Given the description of an element on the screen output the (x, y) to click on. 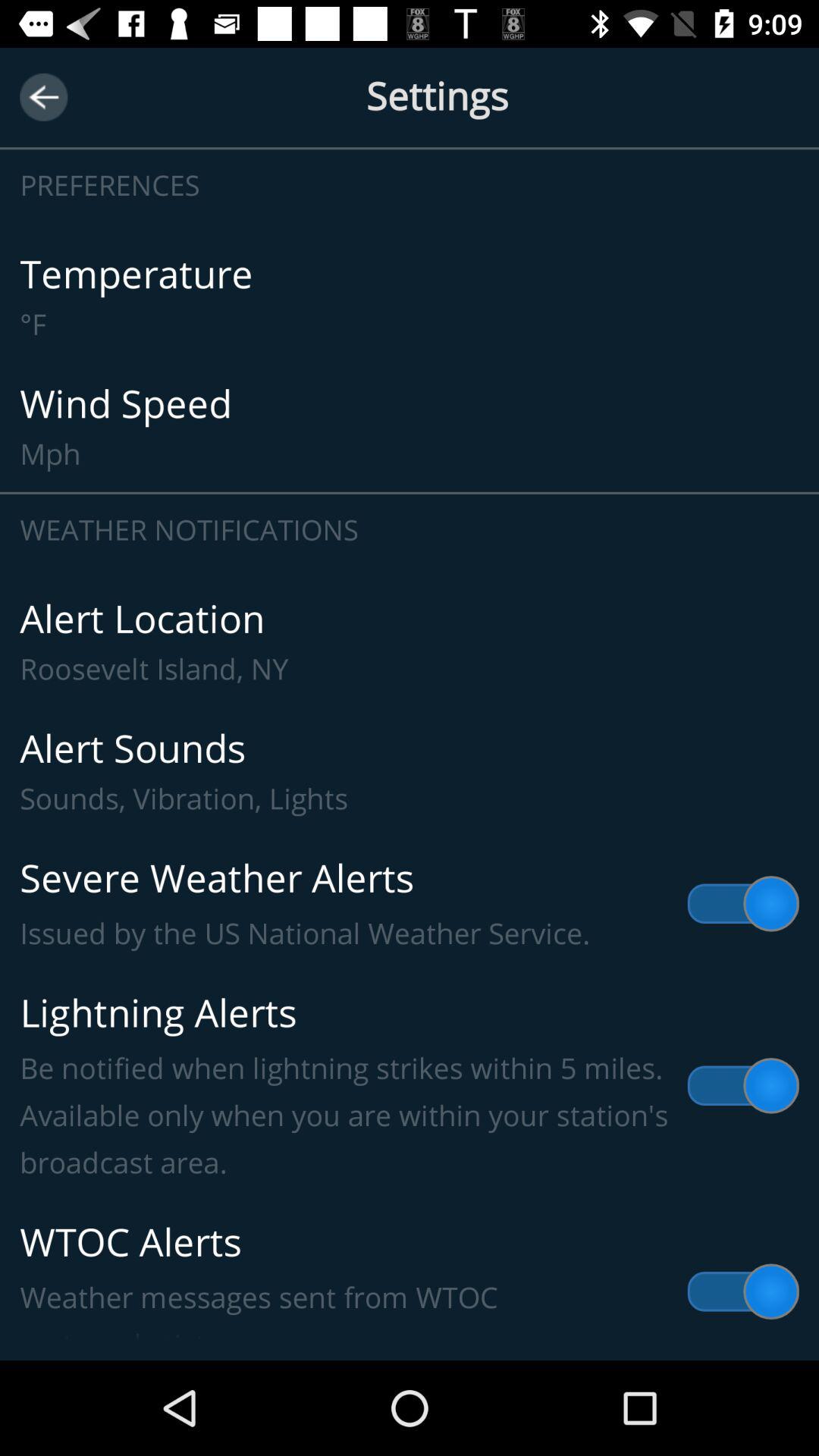
turn off item below preferences item (409, 297)
